Given the description of an element on the screen output the (x, y) to click on. 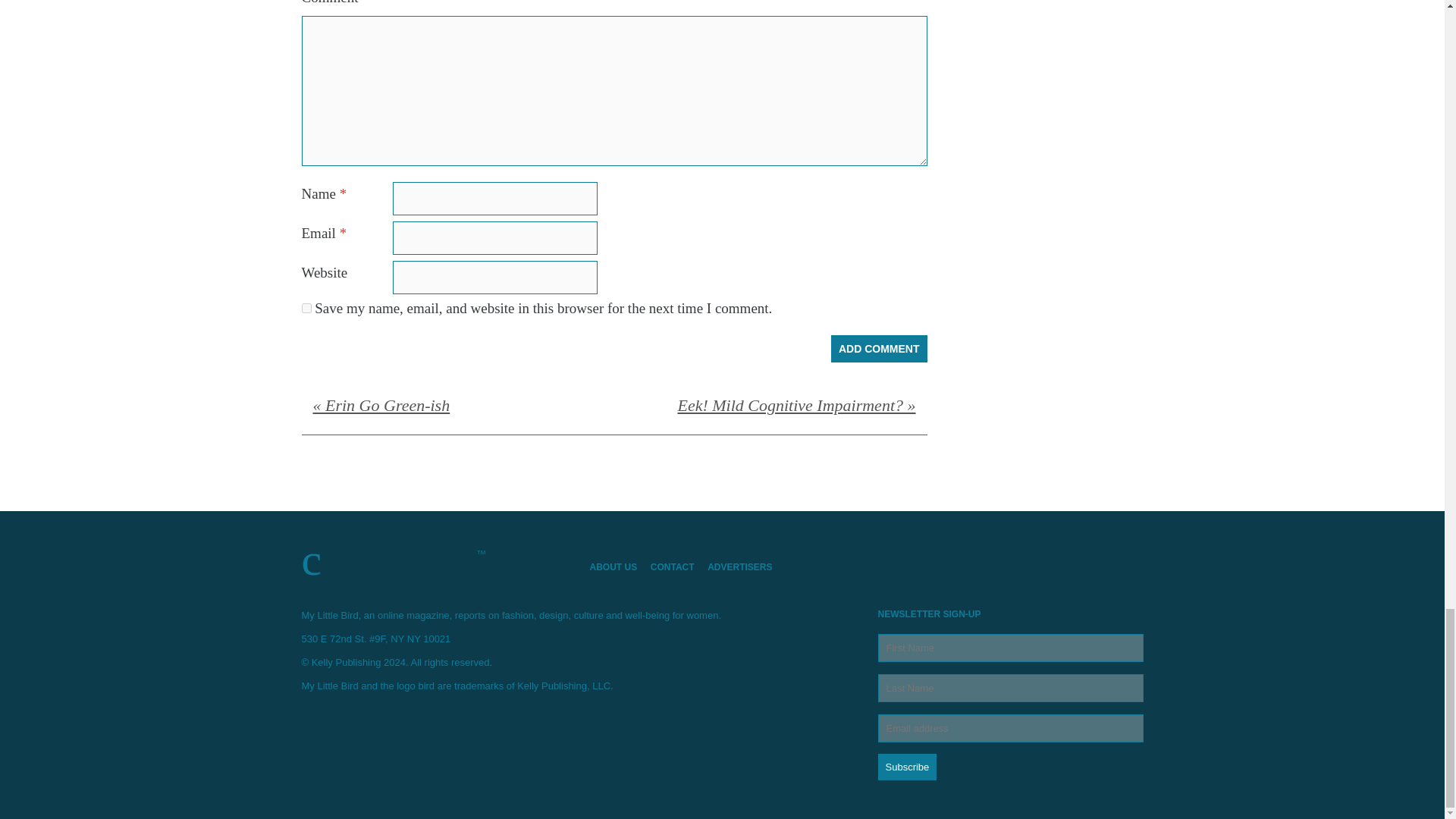
ABOUT US (618, 566)
Add Comment (879, 348)
Add Comment (879, 348)
yes (306, 307)
Subscribe (907, 766)
TM (434, 558)
Subscribe (907, 766)
ADVERTISERS (745, 566)
CONTACT (677, 566)
NEWSLETTER SIGN-UP (1009, 694)
